Given the description of an element on the screen output the (x, y) to click on. 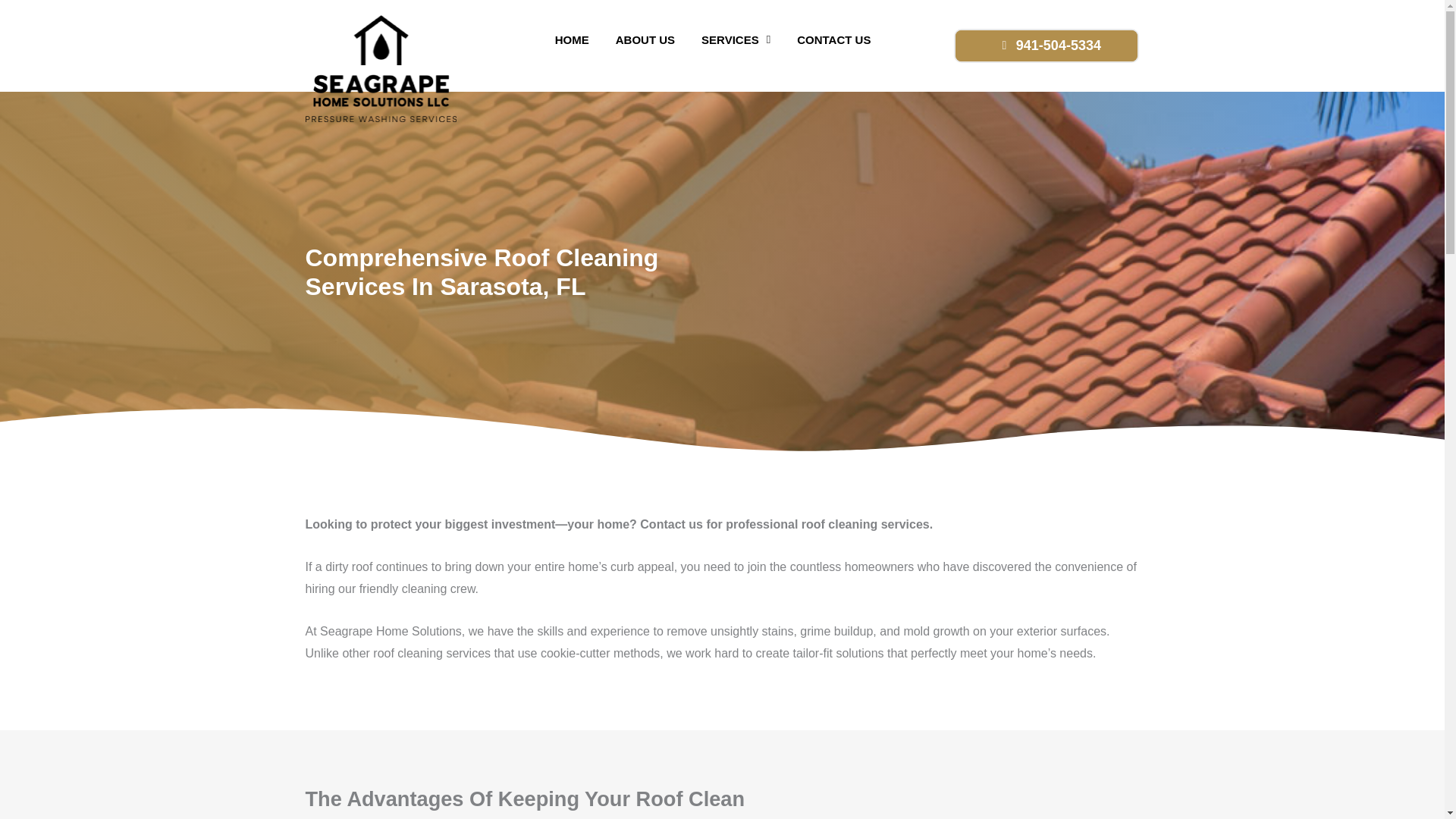
CONTACT US (833, 39)
SERVICES (735, 39)
ABOUT US (645, 39)
HOME (571, 39)
941-504-5334 (1045, 45)
